Given the description of an element on the screen output the (x, y) to click on. 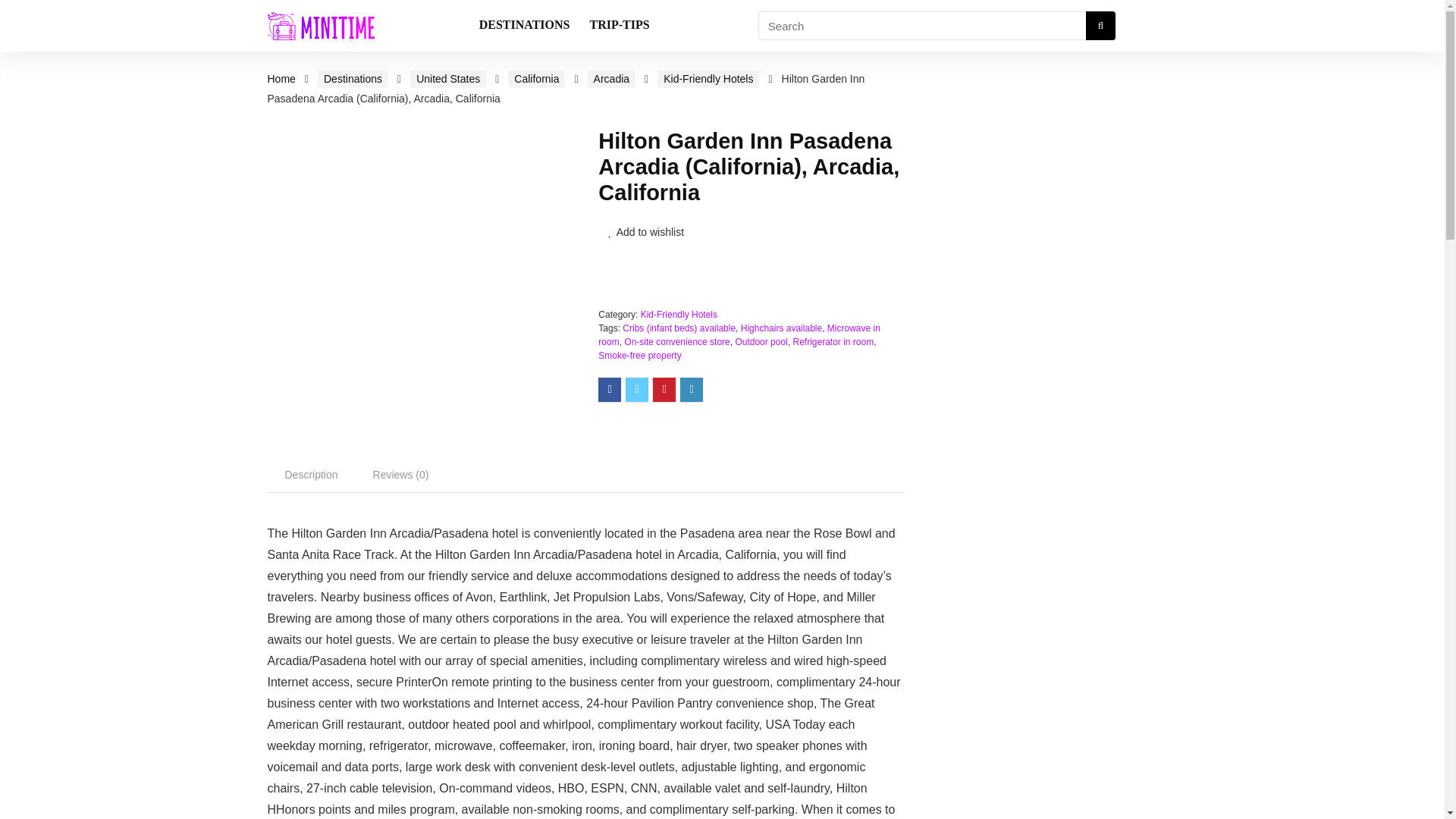
Destinations (352, 78)
Smoke-free property (639, 355)
Outdoor pool (761, 341)
On-site convenience store (676, 341)
United States (448, 78)
Kid-Friendly Hotels (678, 314)
Arcadia (611, 78)
Home (280, 78)
Kid-Friendly Hotels (708, 78)
Microwave in room (739, 334)
